Given the description of an element on the screen output the (x, y) to click on. 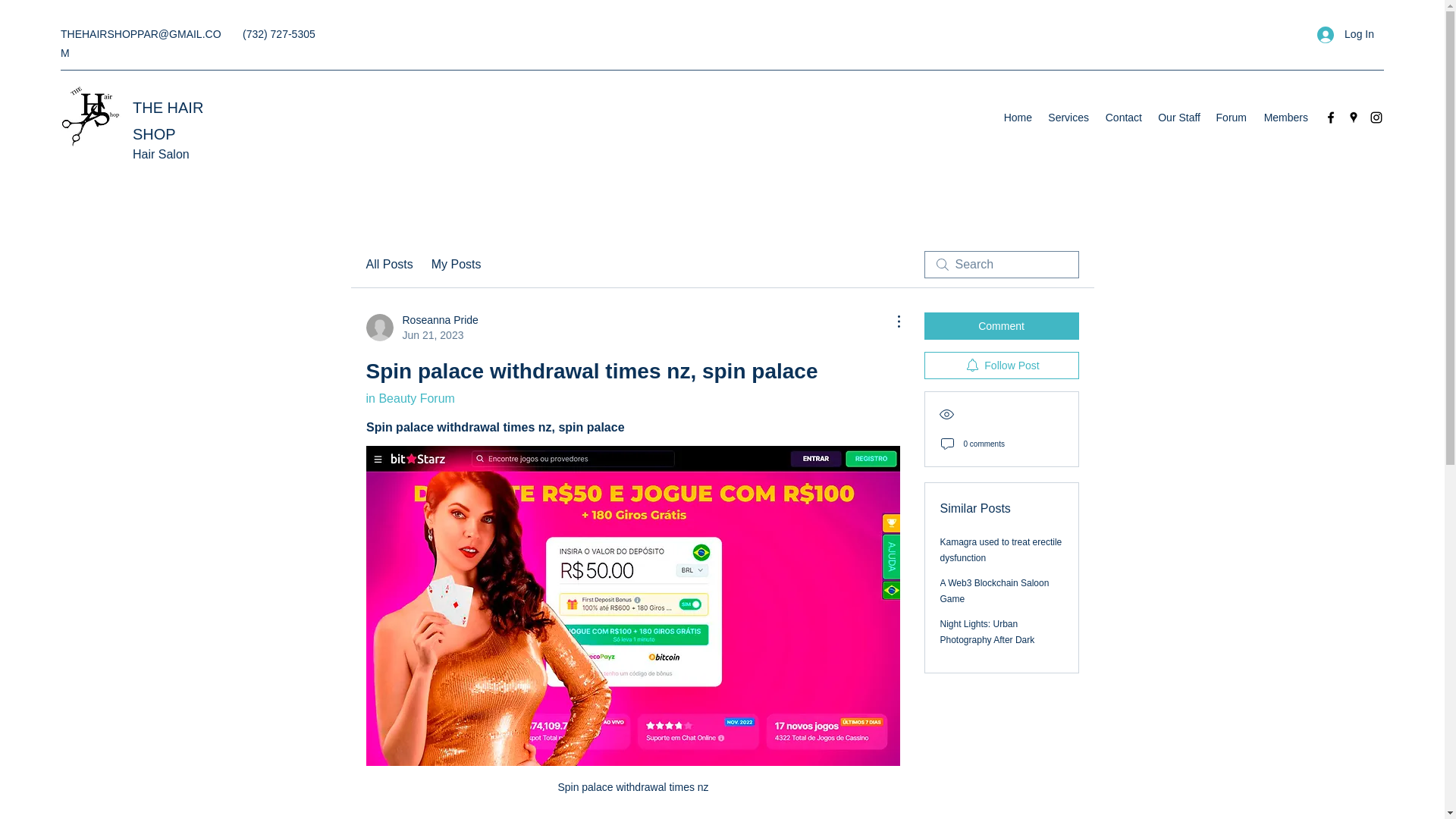
A Web3 Blockchain Saloon Game (421, 327)
All Posts (994, 591)
Services (388, 264)
My Posts (1067, 117)
in Beauty Forum (455, 264)
Spin palace withdrawal times nz (409, 398)
Forum (1284, 117)
Our Staff (1230, 117)
Contact (1179, 117)
Log In (1123, 117)
Home (1345, 34)
Night Lights: Urban Photography After Dark (1017, 117)
Follow Post (987, 632)
